Given the description of an element on the screen output the (x, y) to click on. 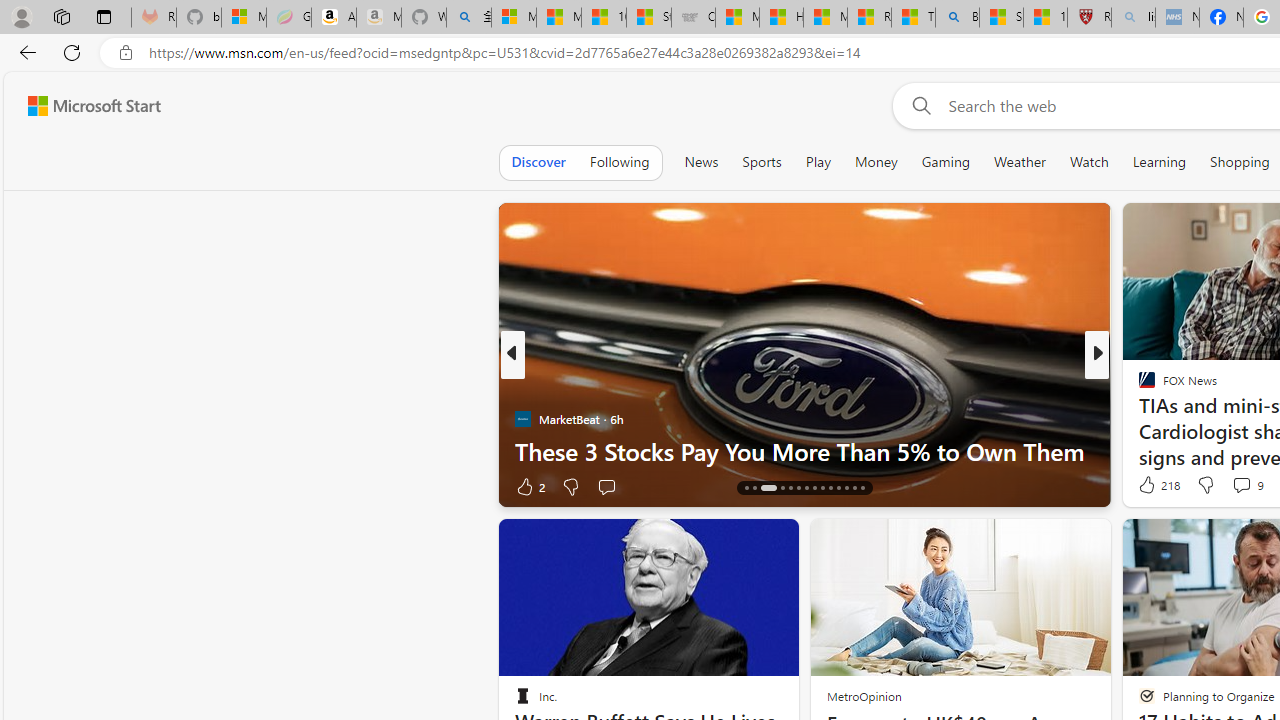
View comments 1 Comment (1222, 485)
MarketBeat (1138, 418)
AutomationID: tab-27 (853, 487)
Gaming (945, 162)
AutomationID: tab-22 (814, 487)
View comments 1 Comment (1228, 486)
Money (875, 161)
save70.com (1161, 418)
604 Like (1151, 486)
AutomationID: tab-15 (746, 487)
4 Like (1145, 486)
